Given the description of an element on the screen output the (x, y) to click on. 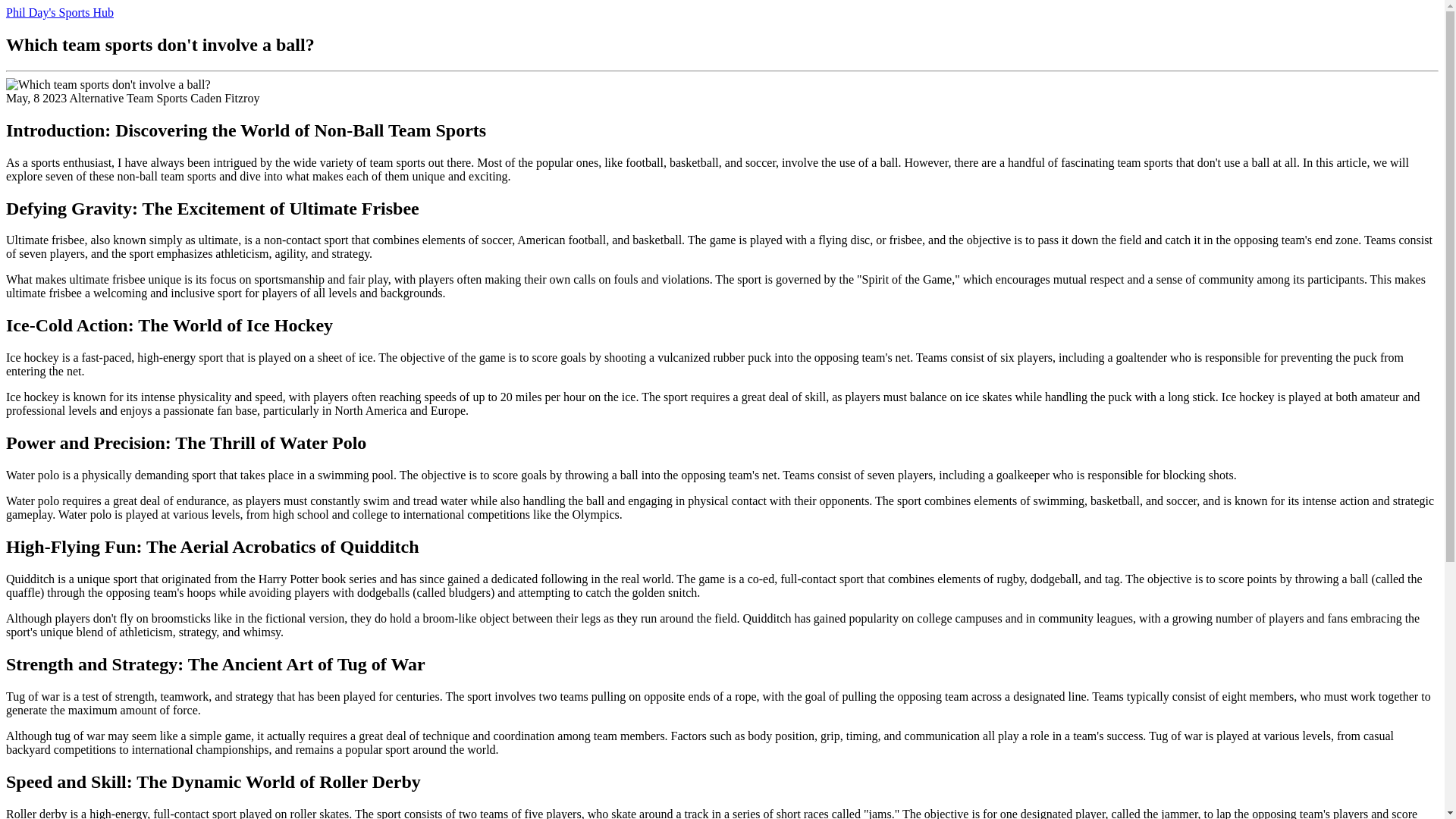
Phil Day's Sports Hub (59, 11)
